Given the description of an element on the screen output the (x, y) to click on. 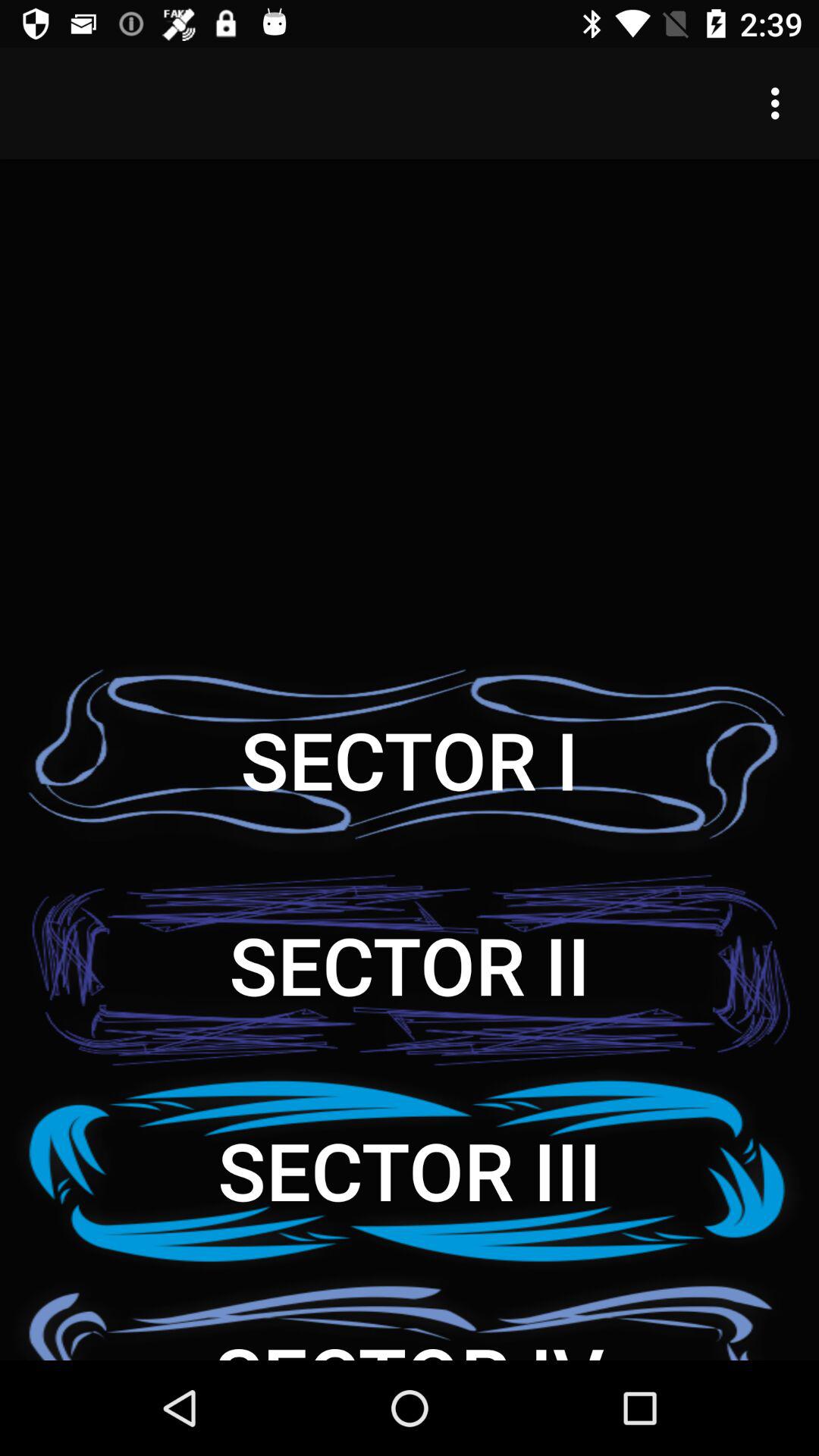
click the item above sector i (779, 103)
